Given the description of an element on the screen output the (x, y) to click on. 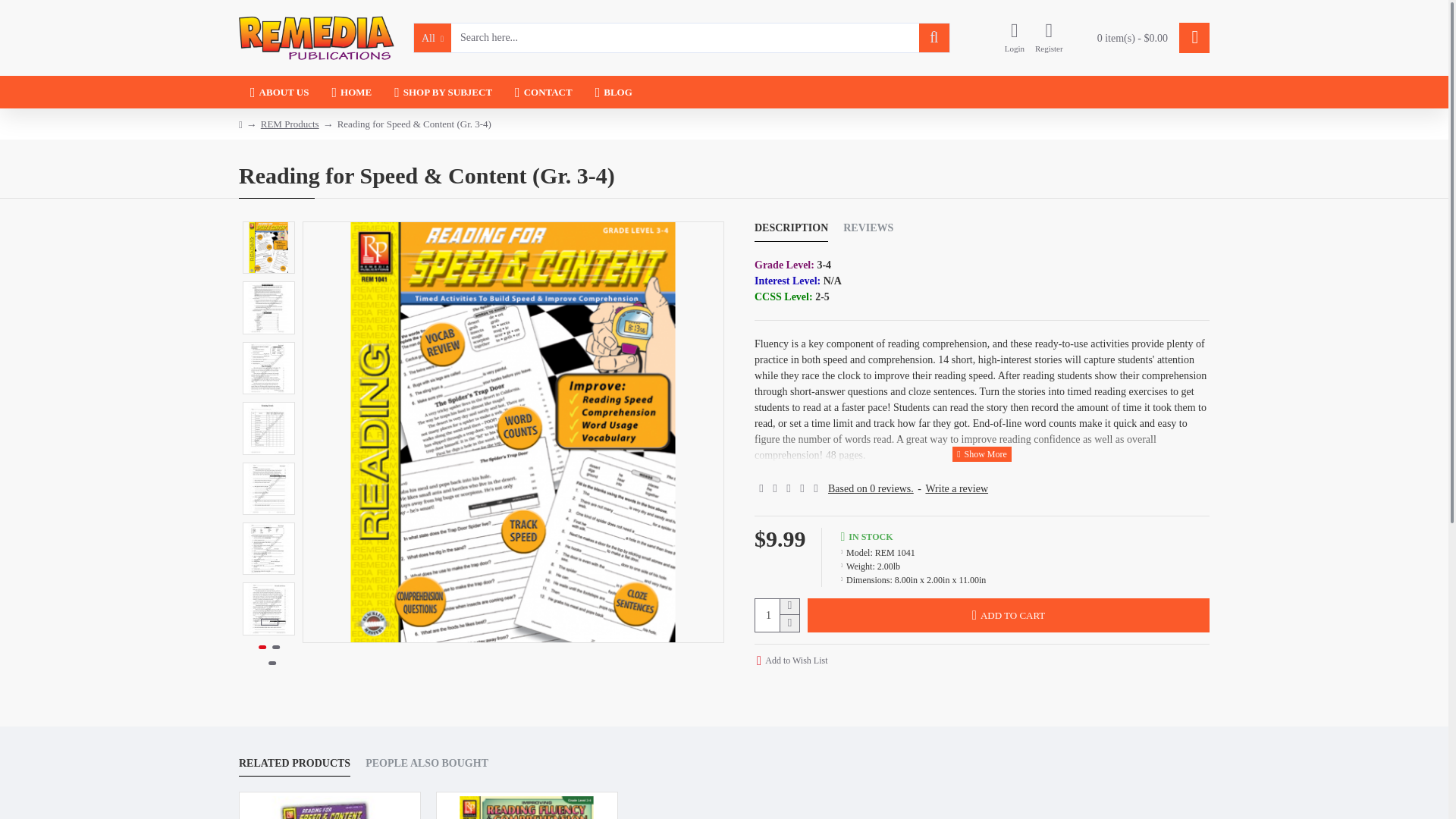
ABOUT US (279, 92)
Remedia Publications (316, 37)
1 (777, 614)
HOME (351, 92)
